Given the description of an element on the screen output the (x, y) to click on. 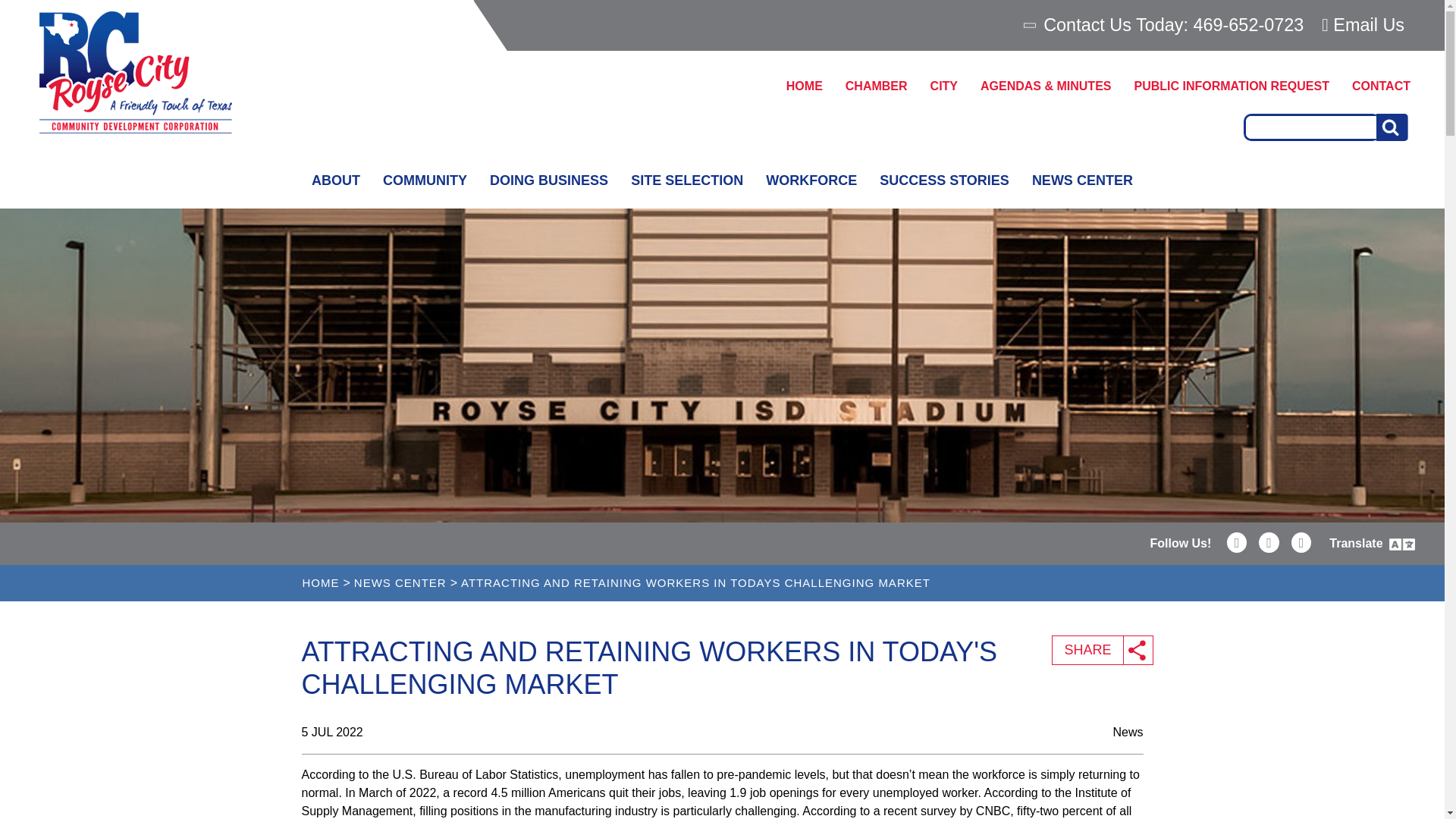
COMMUNITY (425, 180)
SITE SELECTION (687, 180)
Nextdoor (1301, 542)
Linkedin (1237, 542)
CONTACT (1381, 85)
HOME (804, 85)
Contact Us Today: 469-652-0723 (1164, 25)
Email Us (1363, 24)
CHAMBER (876, 85)
DOING BUSINESS (549, 180)
